Given the description of an element on the screen output the (x, y) to click on. 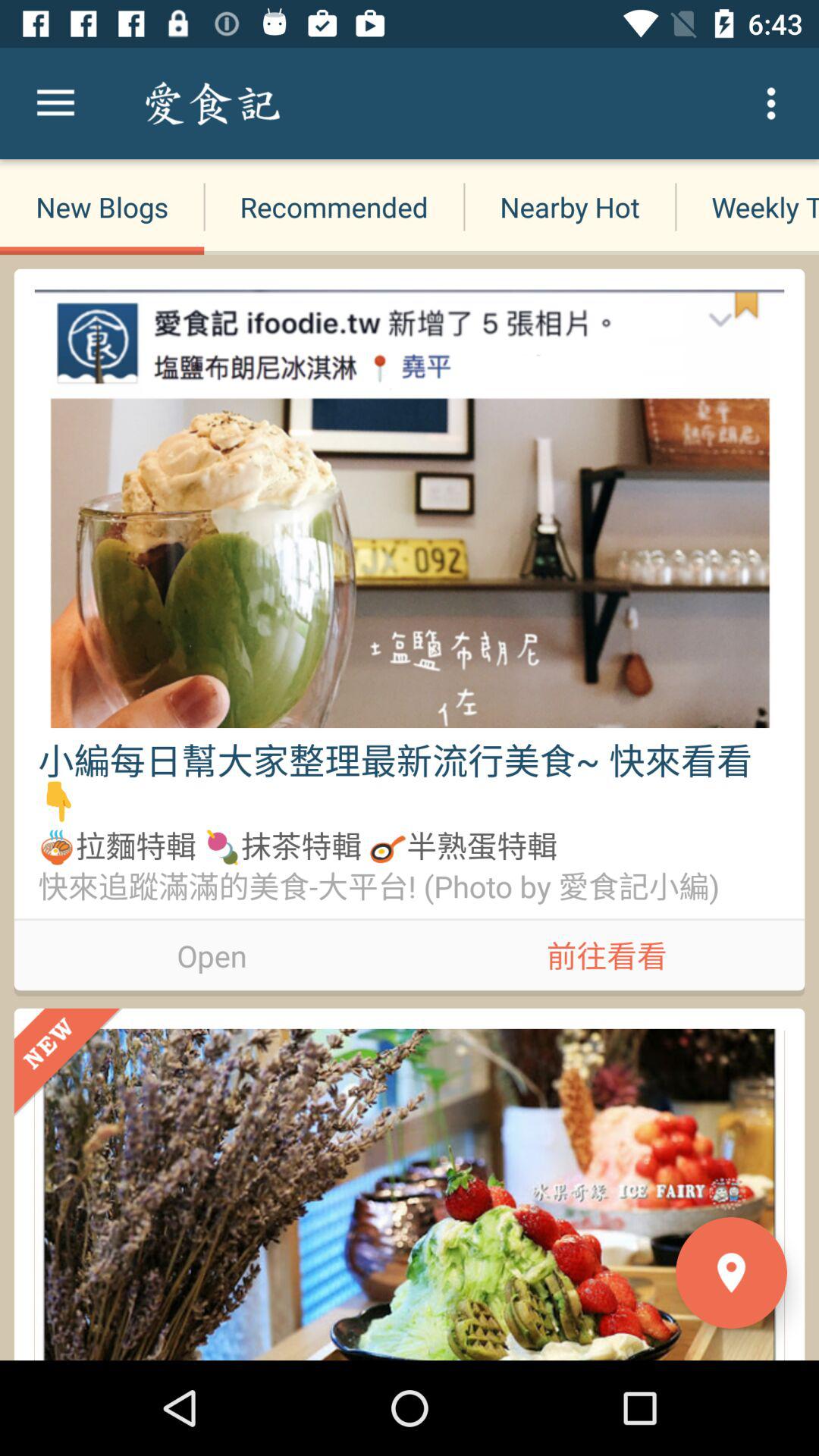
flip to the search blogs item (318, 103)
